Given the description of an element on the screen output the (x, y) to click on. 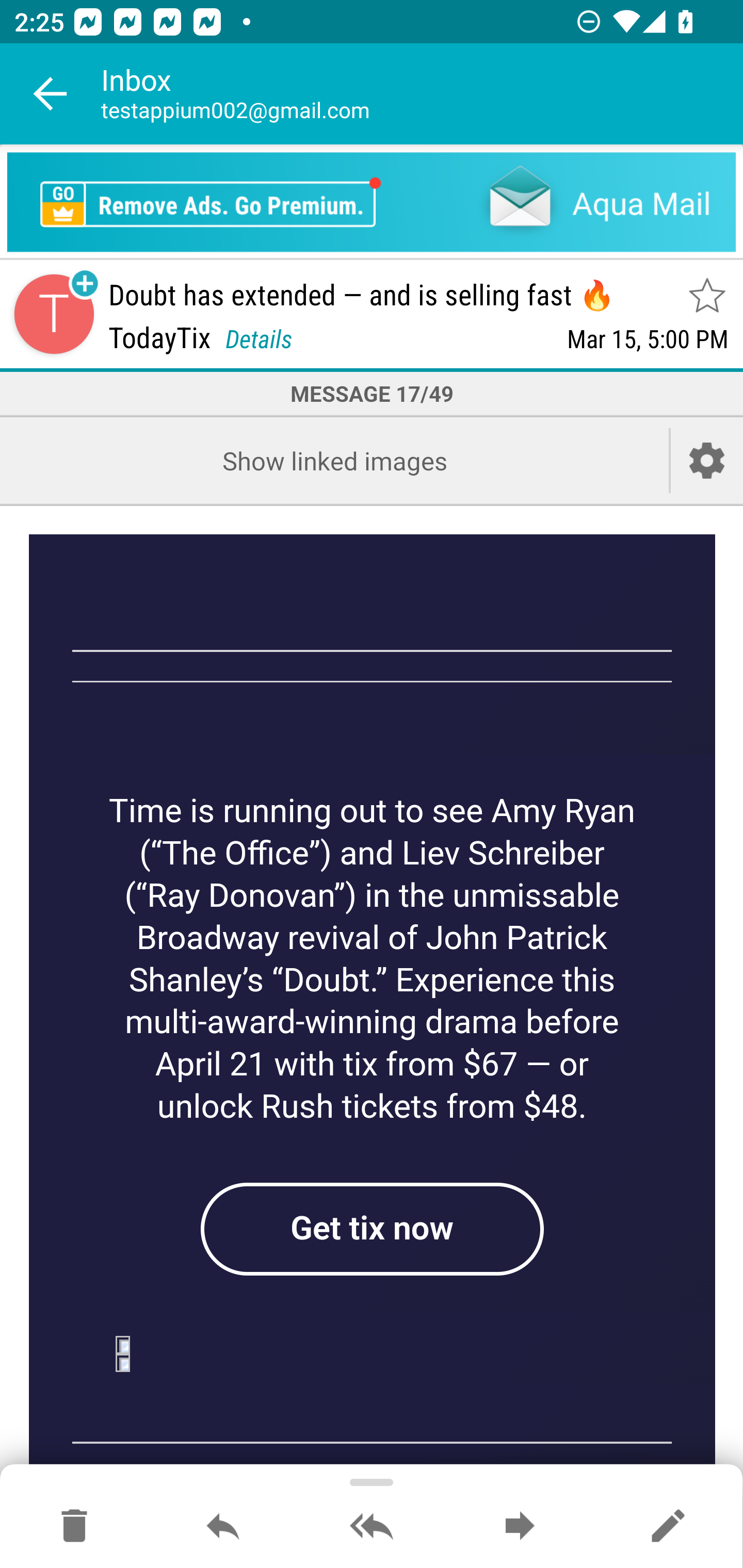
Navigate up (50, 93)
Inbox testappium002@gmail.com (422, 93)
Sender contact button (53, 314)
Show linked images (334, 460)
Account setup (706, 460)
Get tix now (371, 1229)
Move to Deleted (74, 1527)
Reply (222, 1527)
Reply all (371, 1527)
Forward (519, 1527)
Reply as new (667, 1527)
